Given the description of an element on the screen output the (x, y) to click on. 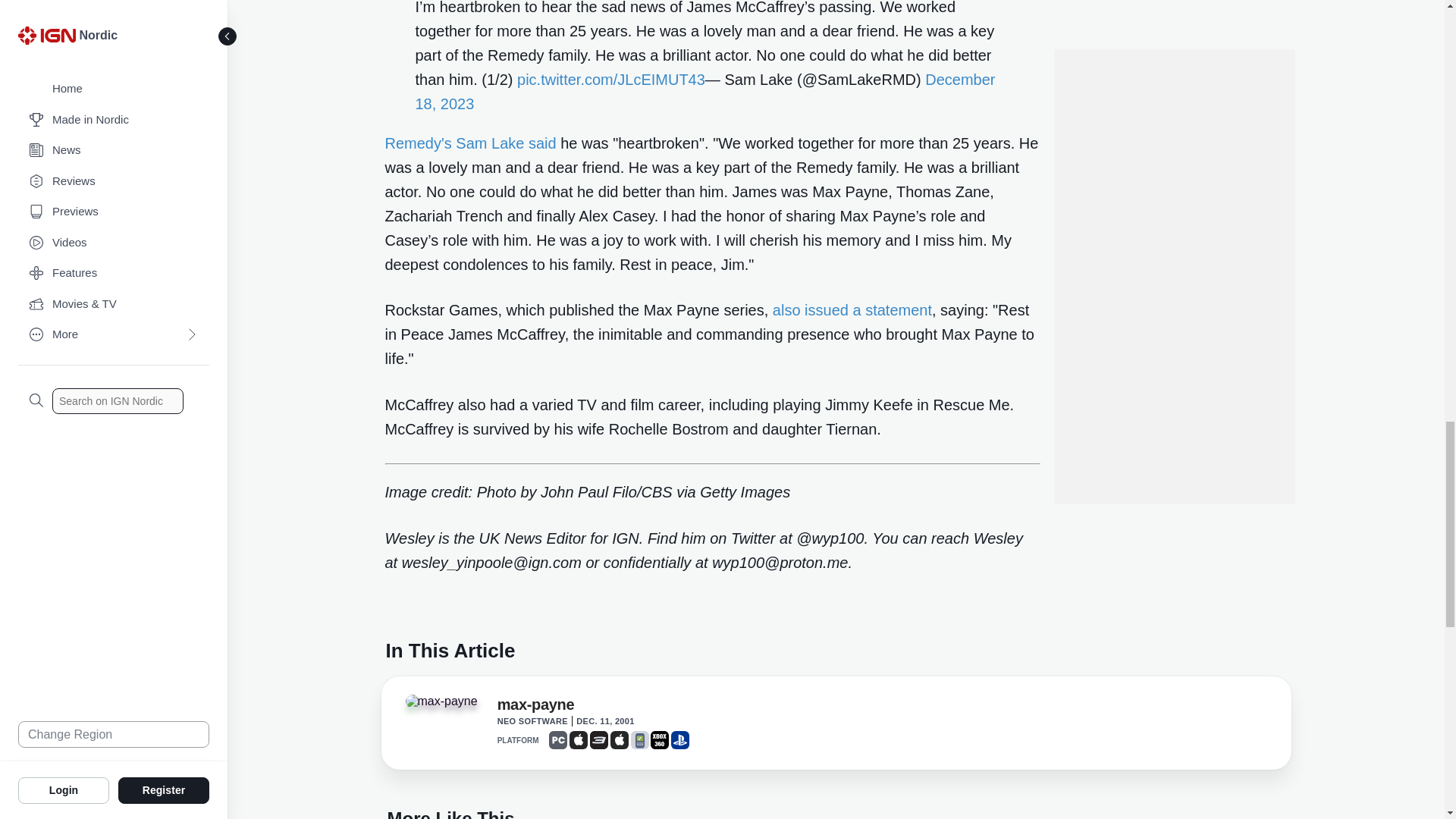
PC (557, 740)
PS3 (598, 740)
IPHONE (578, 740)
max-payne (446, 705)
MACINTOSH (619, 740)
ANDROID (639, 740)
max-payne (440, 701)
max-payne (536, 707)
